Given the description of an element on the screen output the (x, y) to click on. 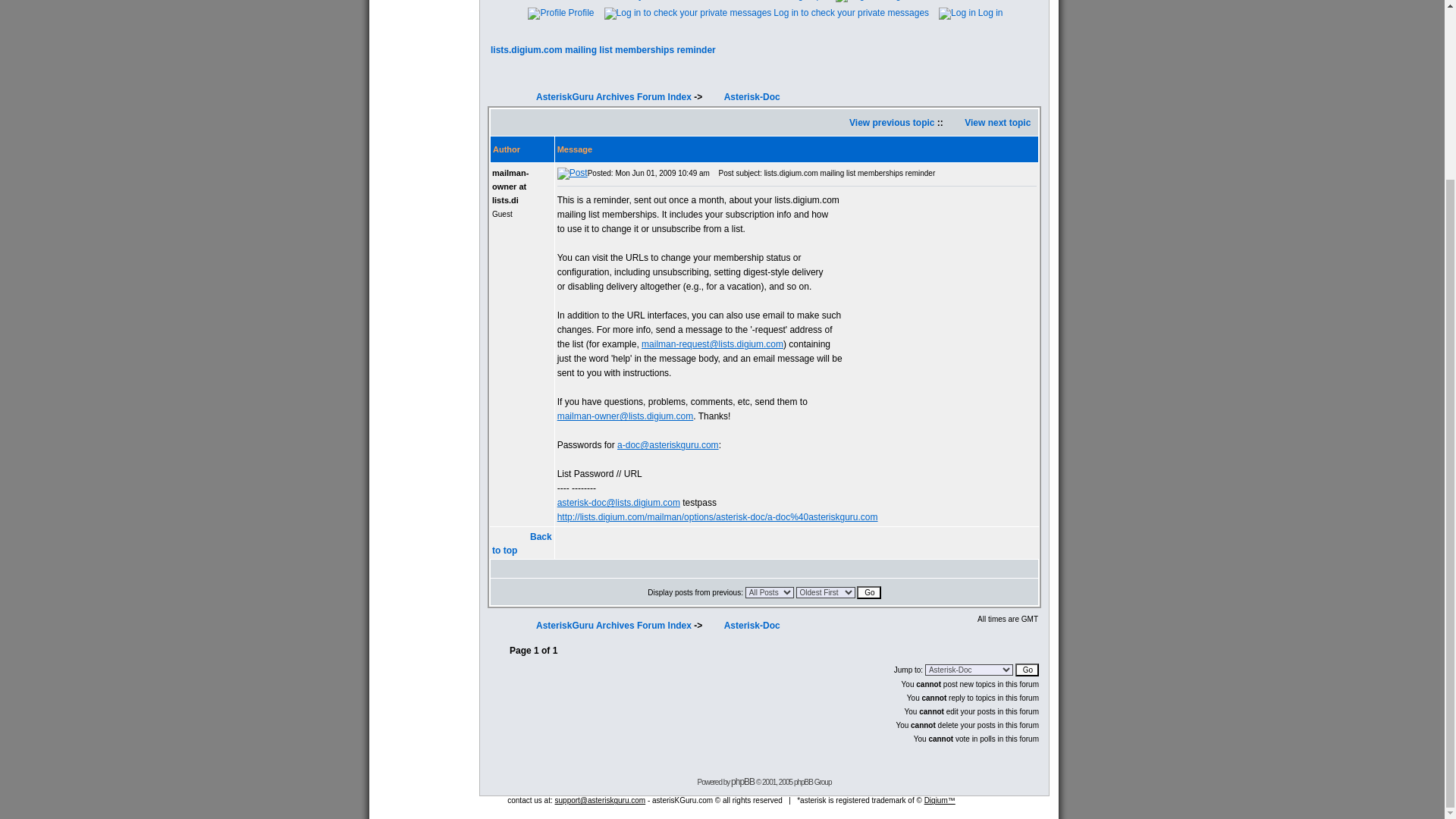
View next topic (996, 122)
phpBB (742, 781)
Search (670, 0)
Post (572, 173)
Go (868, 592)
Usergroups (795, 0)
Profile (559, 12)
Back to top (521, 543)
Log in to check your private messages (766, 12)
Log in (969, 12)
lists.digium.com mailing list memberships reminder (603, 50)
AsteriskGuru Archives Forum Index (613, 96)
Memberlist (727, 0)
